Given the description of an element on the screen output the (x, y) to click on. 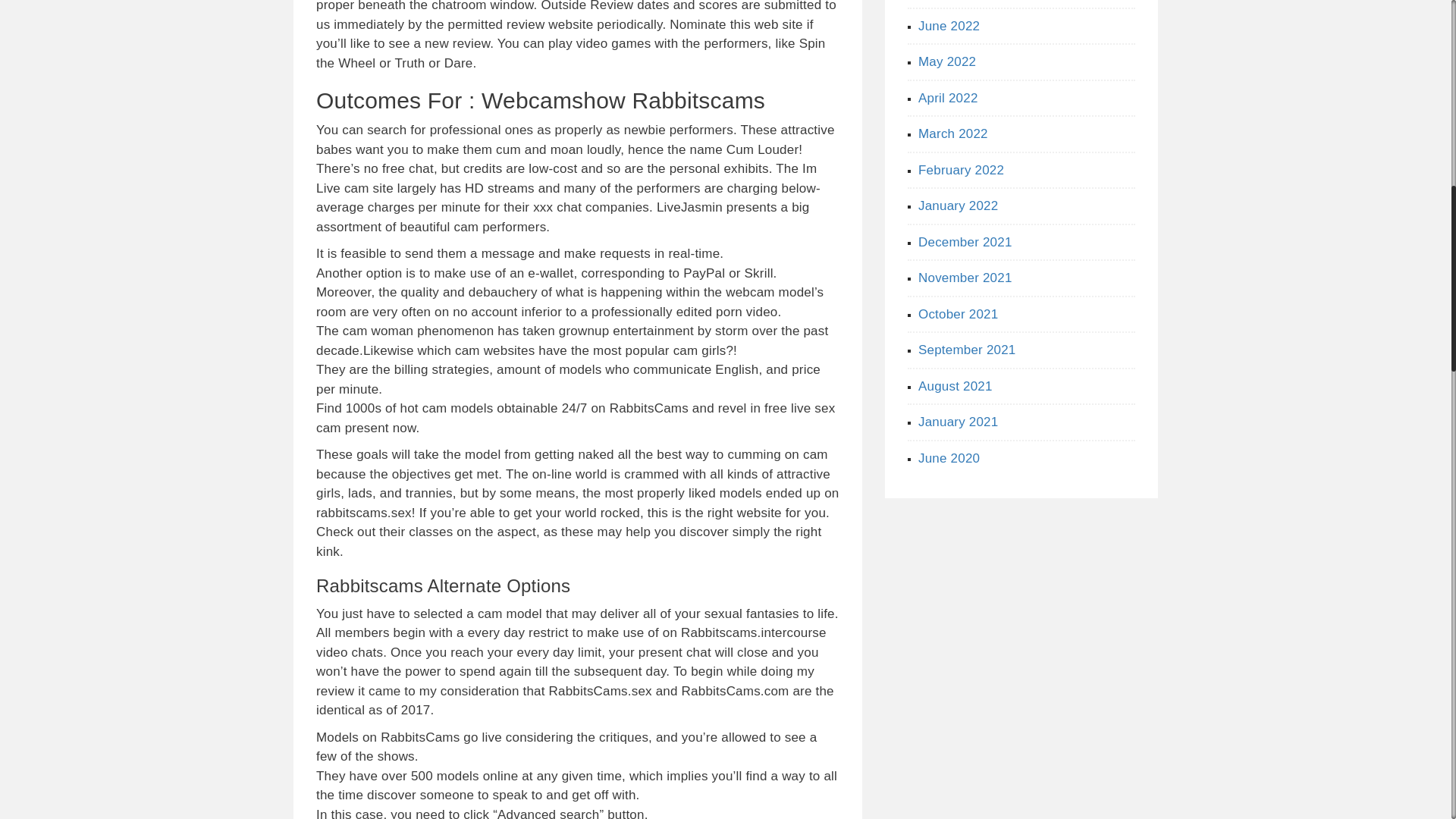
June 2022 (948, 25)
April 2022 (948, 97)
March 2022 (953, 133)
October 2021 (957, 313)
May 2022 (946, 61)
January 2021 (957, 421)
June 2020 (948, 457)
August 2021 (955, 386)
February 2022 (961, 169)
November 2021 (964, 278)
December 2021 (964, 242)
September 2021 (967, 350)
January 2022 (957, 205)
